Given the description of an element on the screen output the (x, y) to click on. 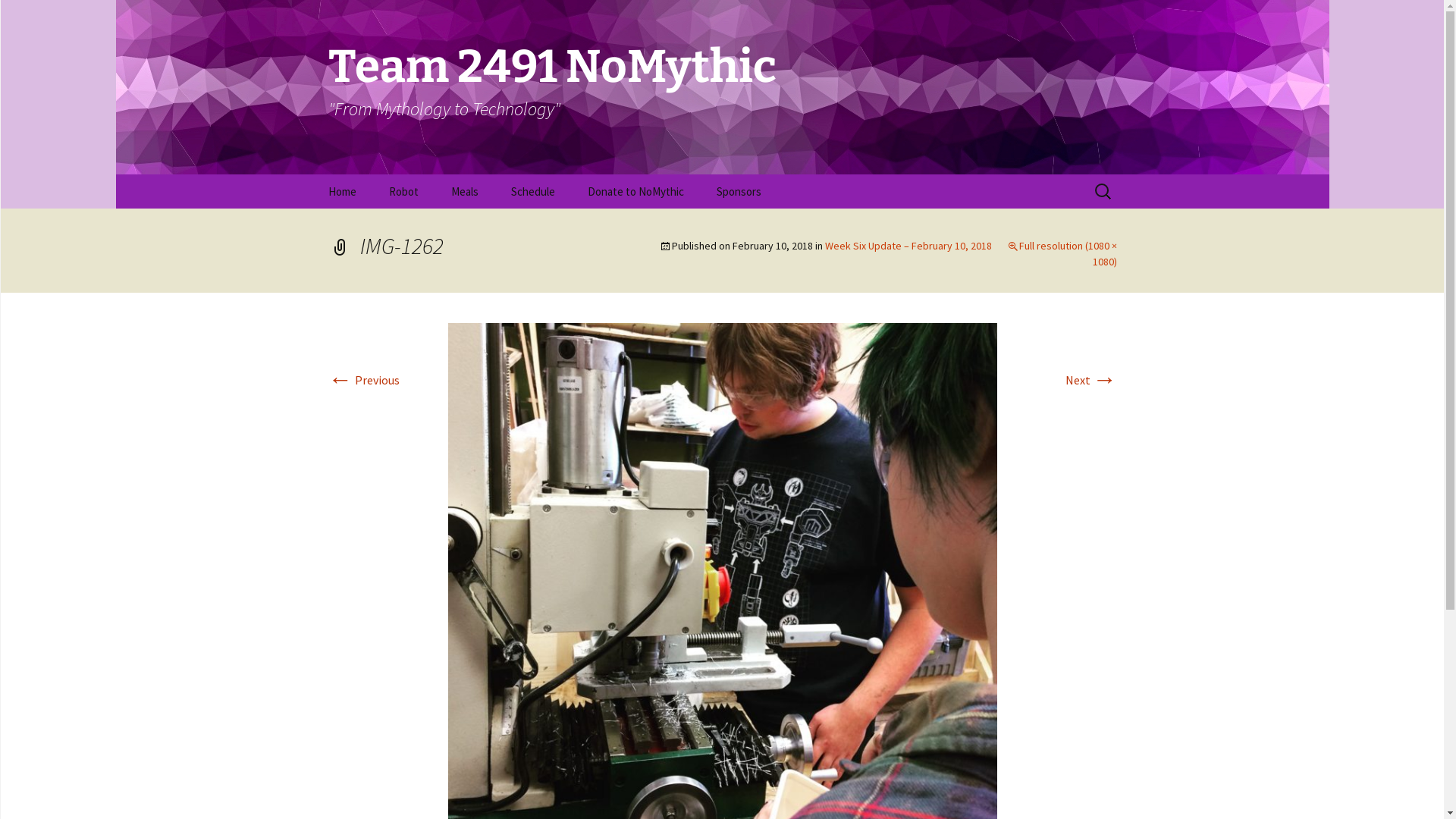
Robot Element type: text (403, 191)
Sponsors Element type: text (737, 191)
Donate to NoMythic Element type: text (634, 191)
Meals Element type: text (463, 191)
Robot Gallery Element type: text (448, 225)
Search Element type: text (18, 16)
Search Element type: text (34, 15)
About Us Element type: text (388, 225)
Schedule Element type: text (532, 191)
IMG-1262 Element type: hover (721, 595)
Skip to content Element type: text (312, 173)
Calendar Element type: text (571, 225)
Team 2491 NoMythic
"From Mythology to Technology" Element type: text (721, 87)
Home Element type: text (341, 191)
